Given the description of an element on the screen output the (x, y) to click on. 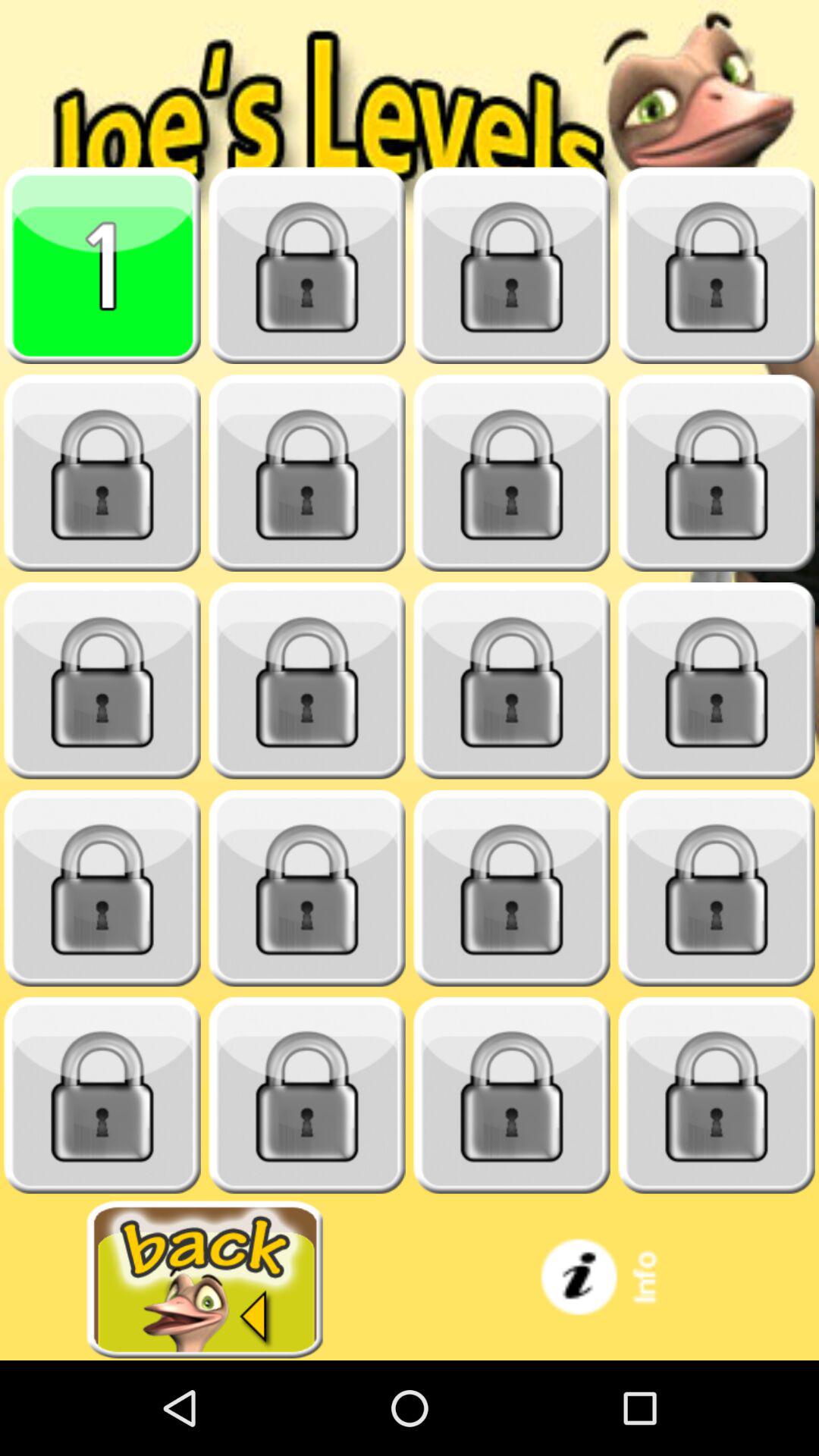
go back (204, 1279)
